Given the description of an element on the screen output the (x, y) to click on. 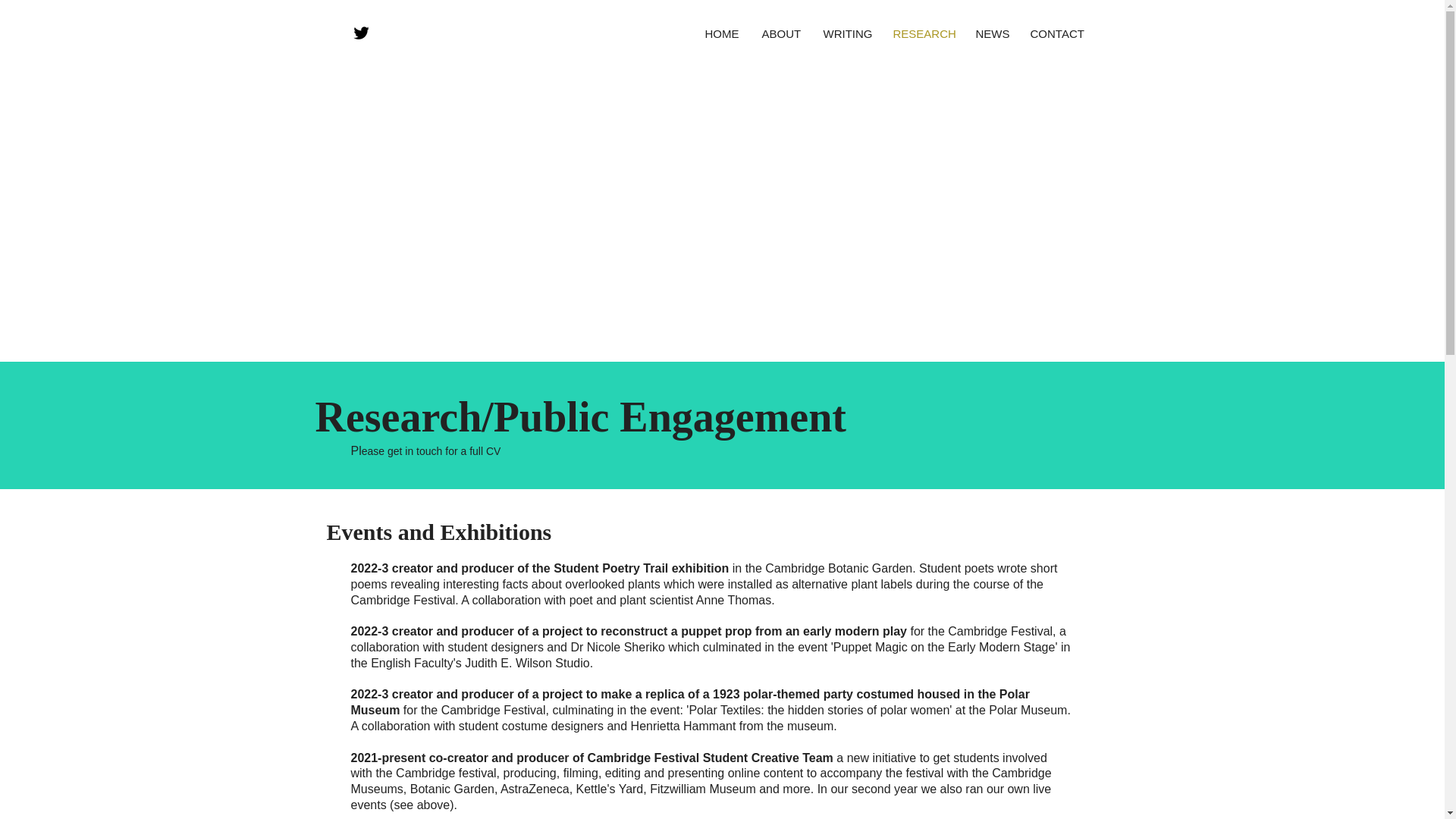
HOME (721, 33)
NEWS (991, 33)
CONTACT (1056, 33)
ABOUT (781, 33)
RESEARCH (921, 33)
WRITING (845, 33)
